Given the description of an element on the screen output the (x, y) to click on. 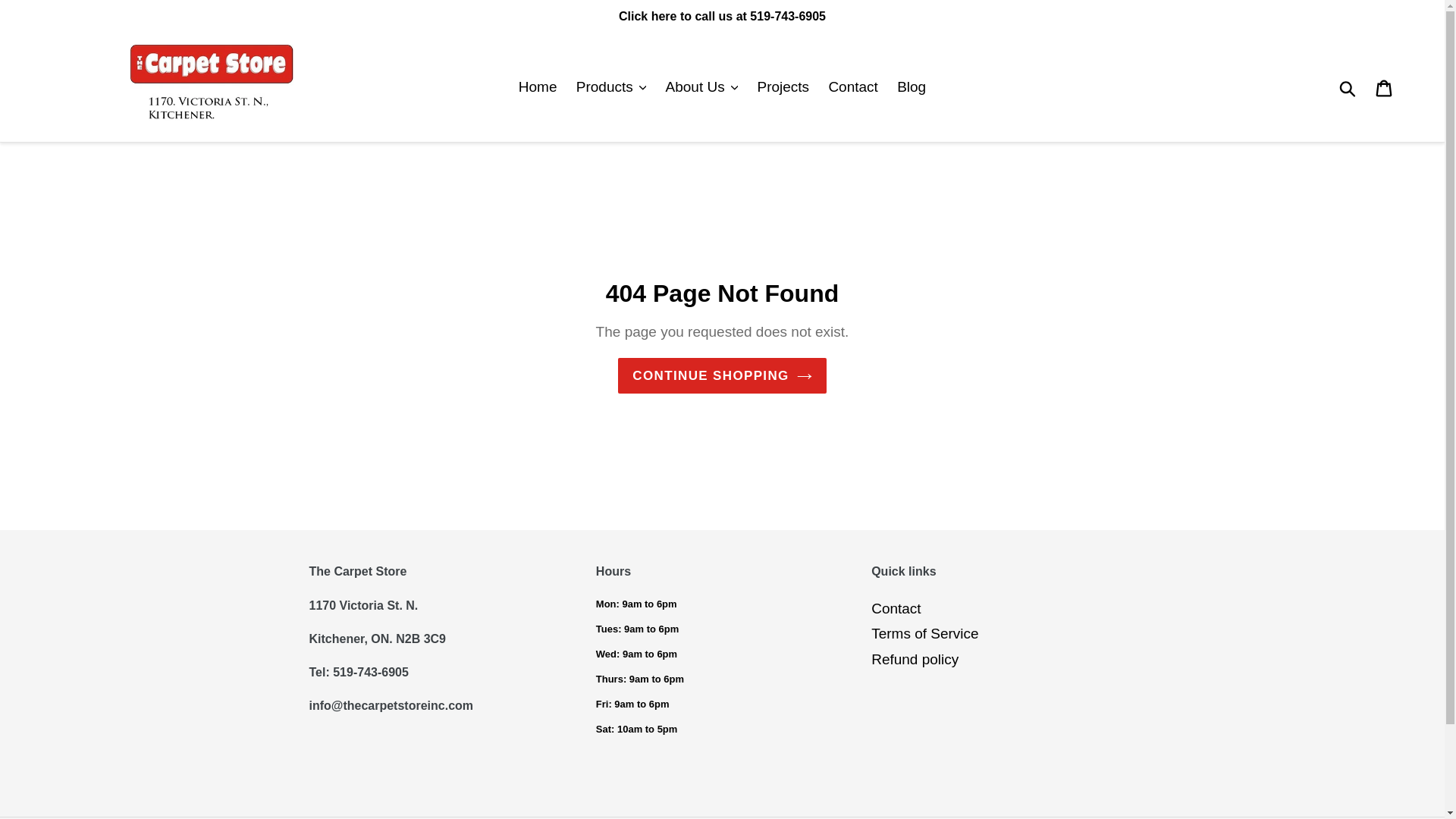
Submit (1348, 87)
Projects (782, 87)
Contact (853, 87)
Blog (911, 87)
Cart (1385, 87)
Home (537, 87)
